Given the description of an element on the screen output the (x, y) to click on. 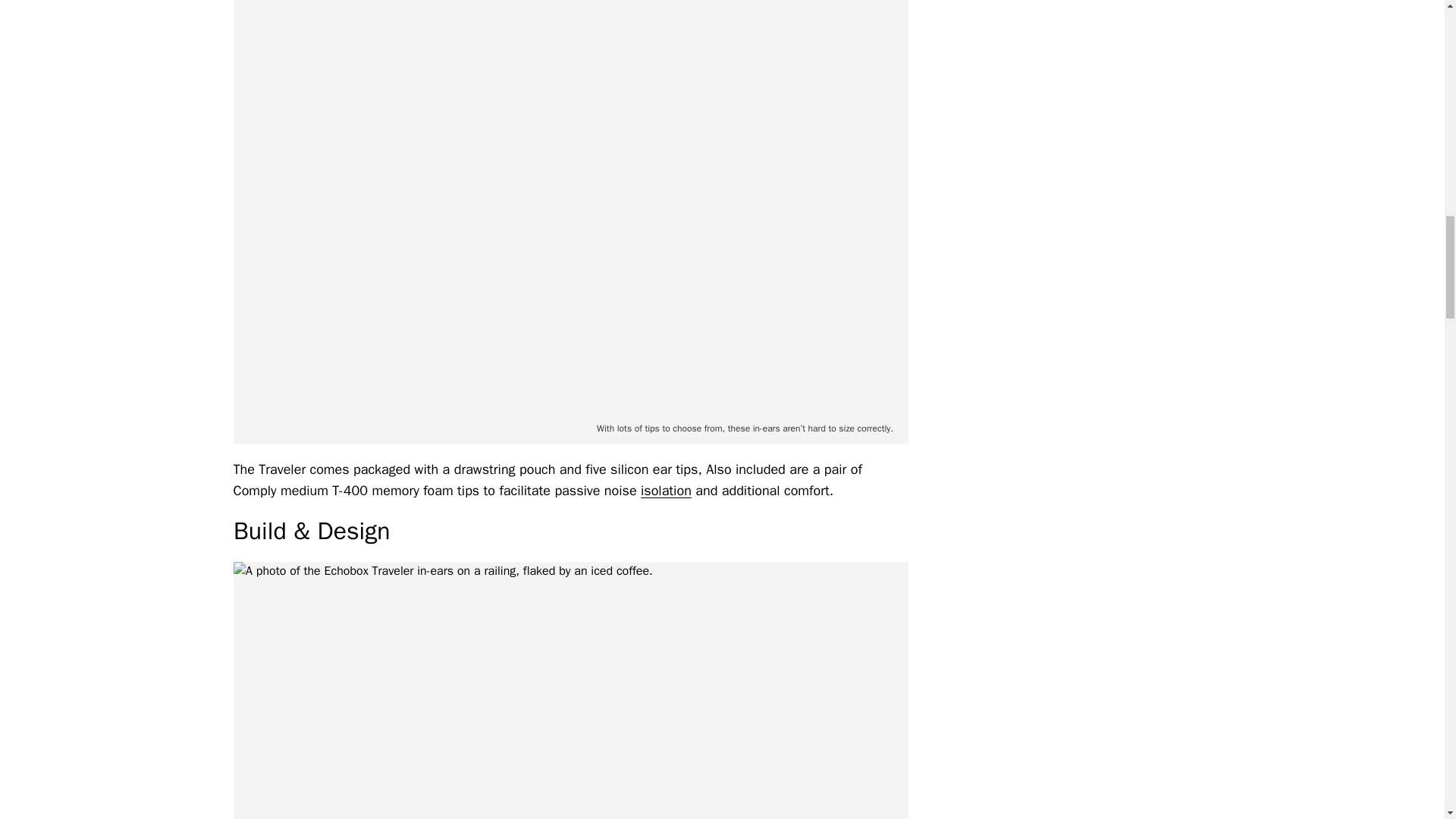
isolation (665, 490)
